Given the description of an element on the screen output the (x, y) to click on. 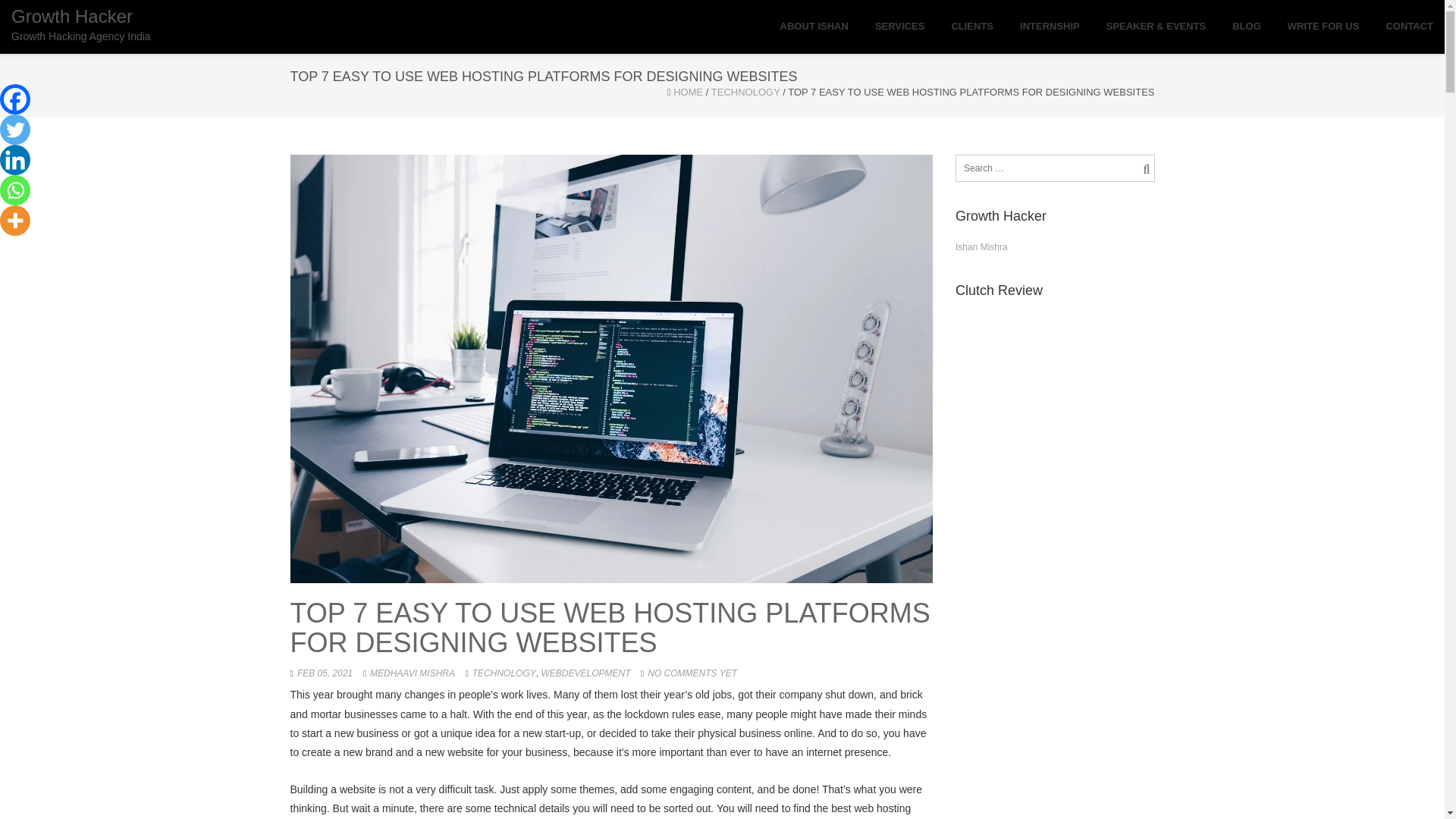
Twitter (15, 129)
Facebook (15, 99)
ABOUT ISHAN (814, 26)
More (15, 220)
CONTACT (1409, 26)
SERVICES (899, 26)
Growth Hacker (81, 24)
WRITE FOR US (1323, 26)
INTERNSHIP (1050, 26)
Whatsapp (15, 190)
